Given the description of an element on the screen output the (x, y) to click on. 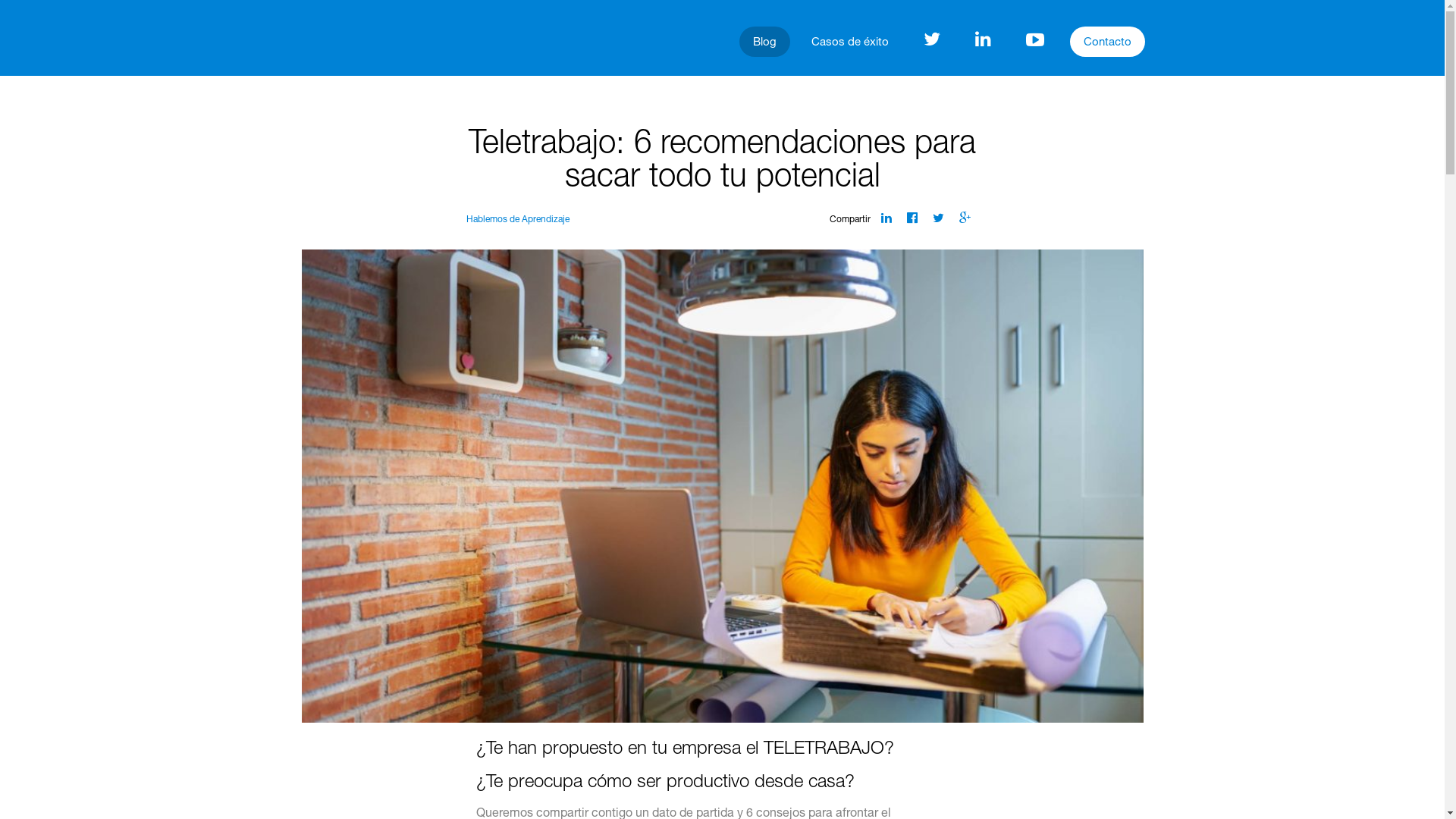
Google+ Element type: hover (964, 217)
Contacto Element type: text (1107, 41)
3Weeks Consulting Element type: text (340, 38)
Hablemos de Aprendizaje Element type: text (517, 219)
Facebook Element type: hover (911, 217)
Blog Element type: text (764, 41)
LinkedIn Element type: hover (886, 217)
Twitter Element type: hover (938, 217)
